Given the description of an element on the screen output the (x, y) to click on. 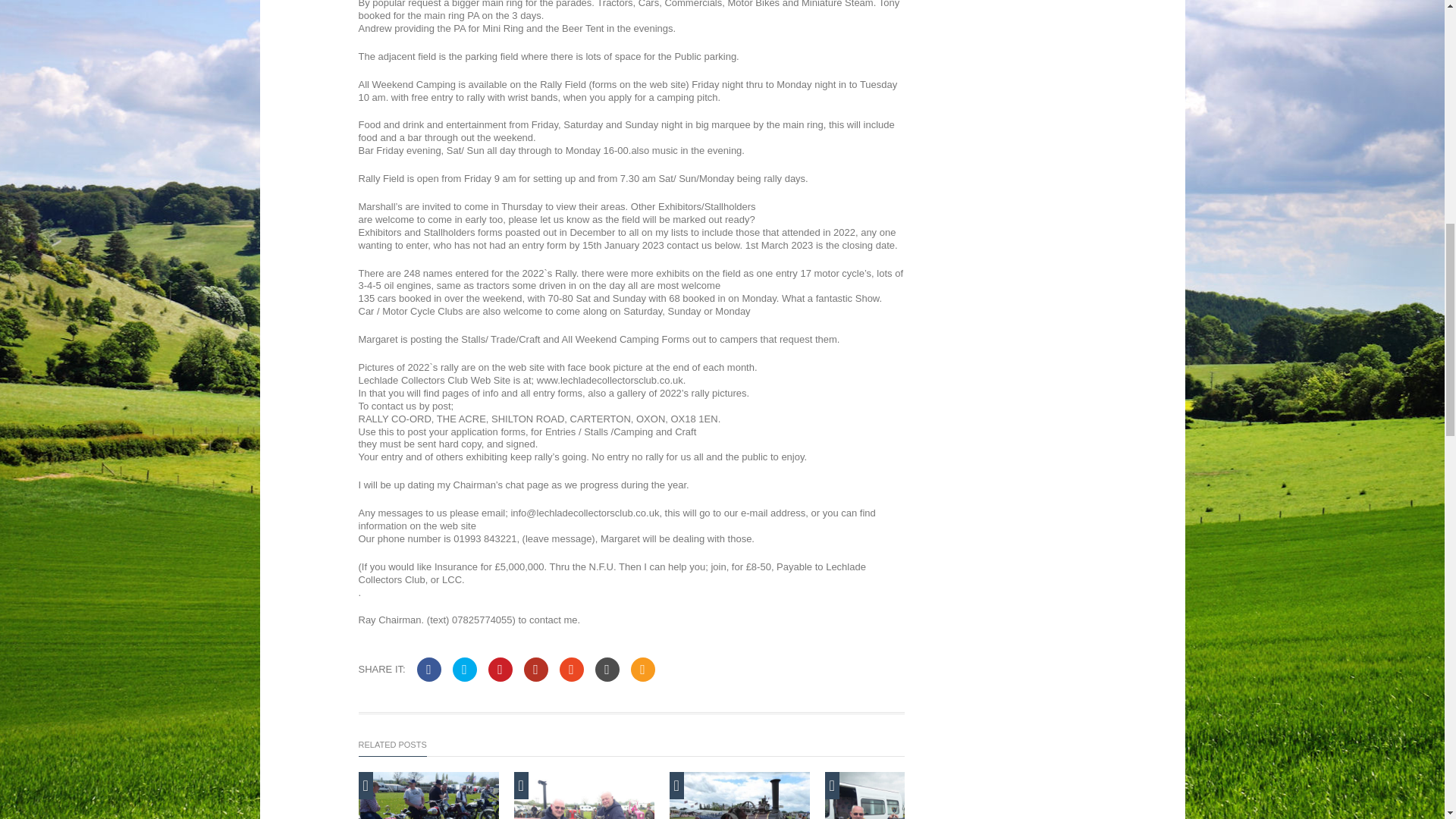
November 2022 (895, 795)
June 2023 (738, 795)
November 2023 (583, 795)
June 2024 (427, 795)
